Given the description of an element on the screen output the (x, y) to click on. 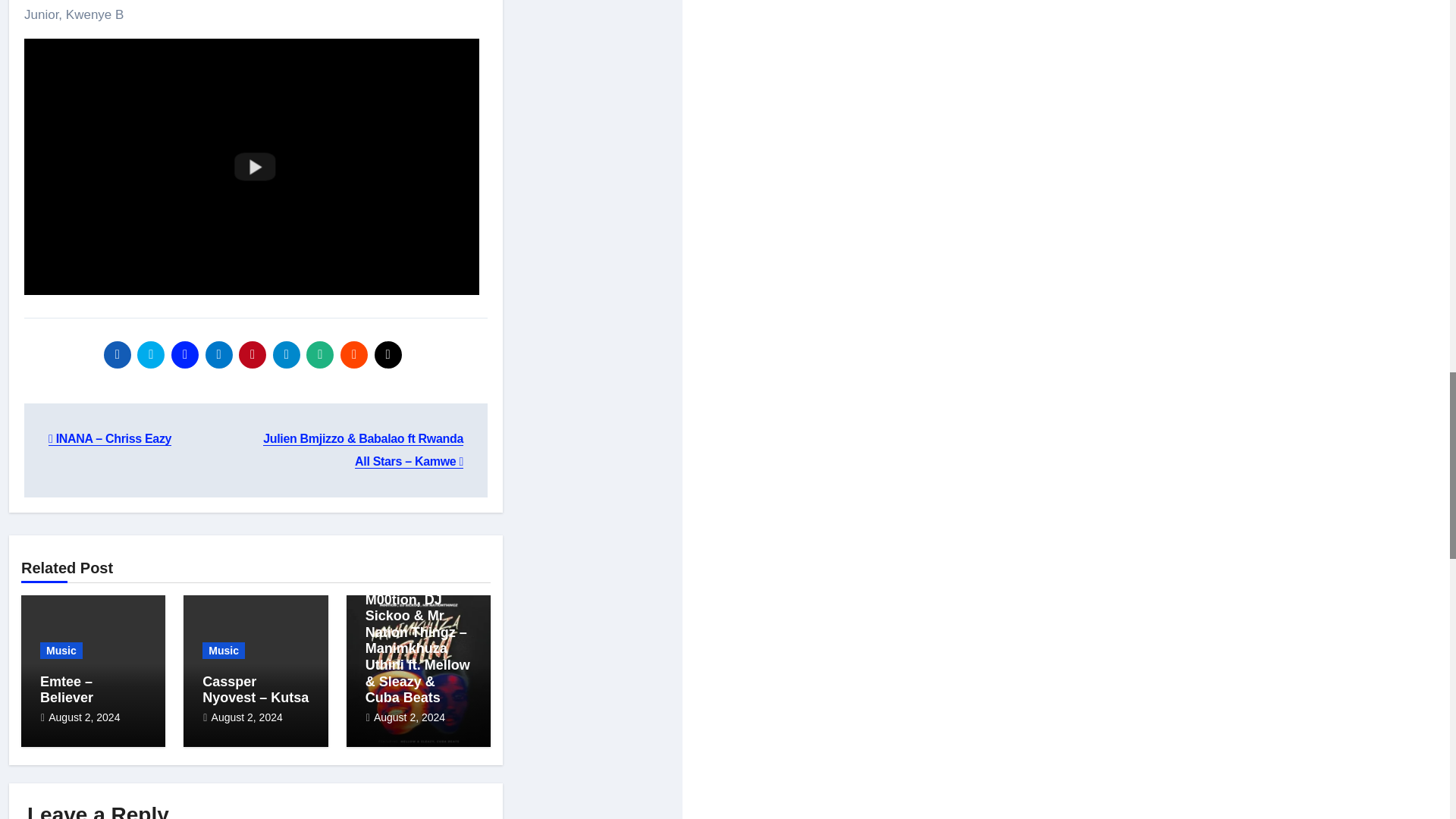
Music (61, 650)
